Given the description of an element on the screen output the (x, y) to click on. 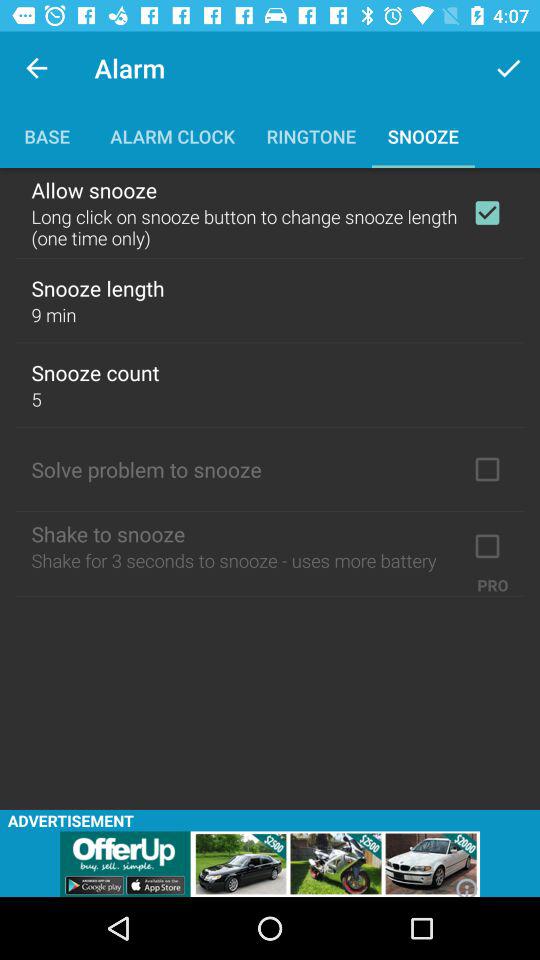
showing the advertisement (270, 864)
